Given the description of an element on the screen output the (x, y) to click on. 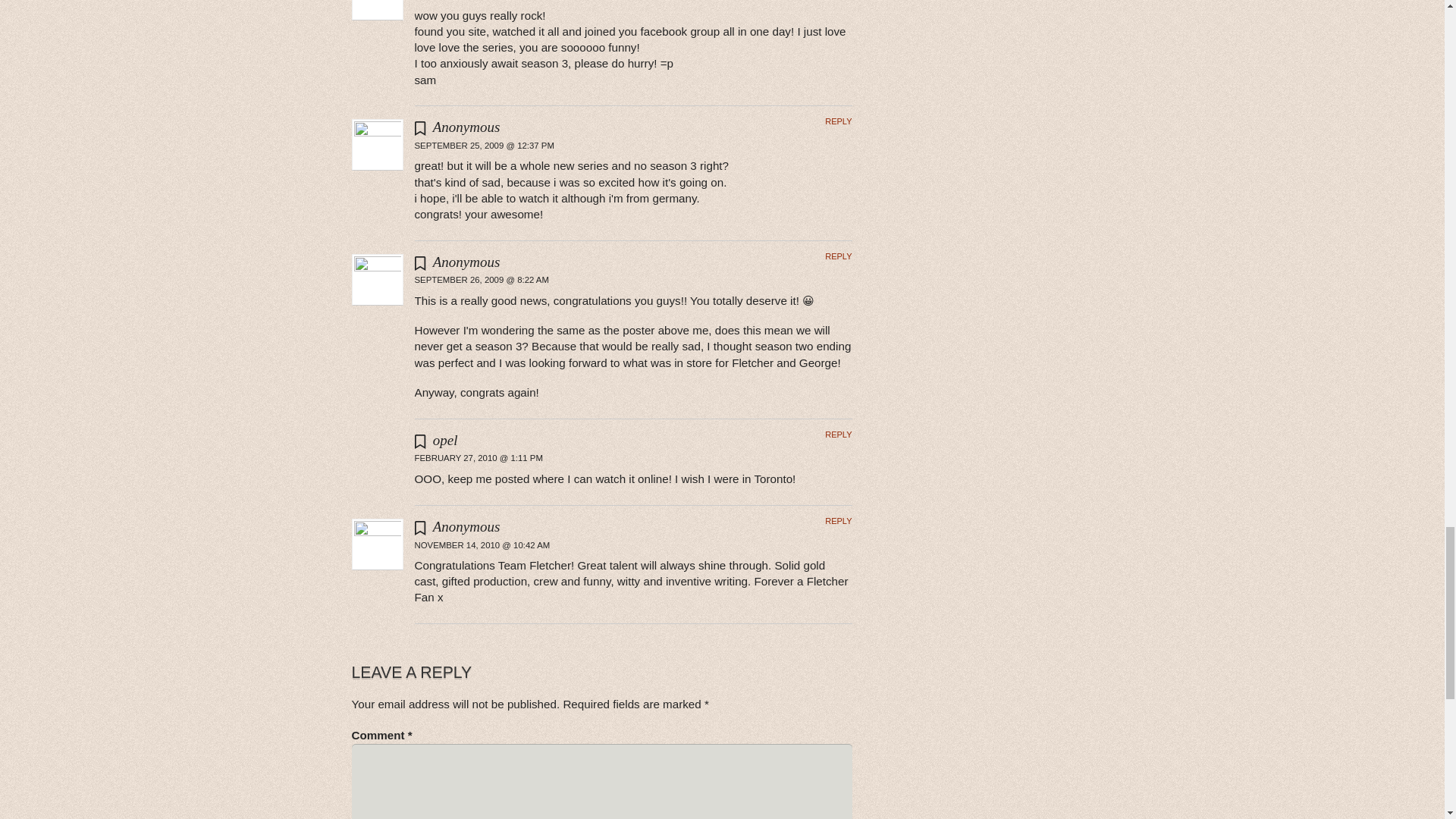
REPLY (838, 121)
REPLY (838, 433)
REPLY (838, 256)
